Given the description of an element on the screen output the (x, y) to click on. 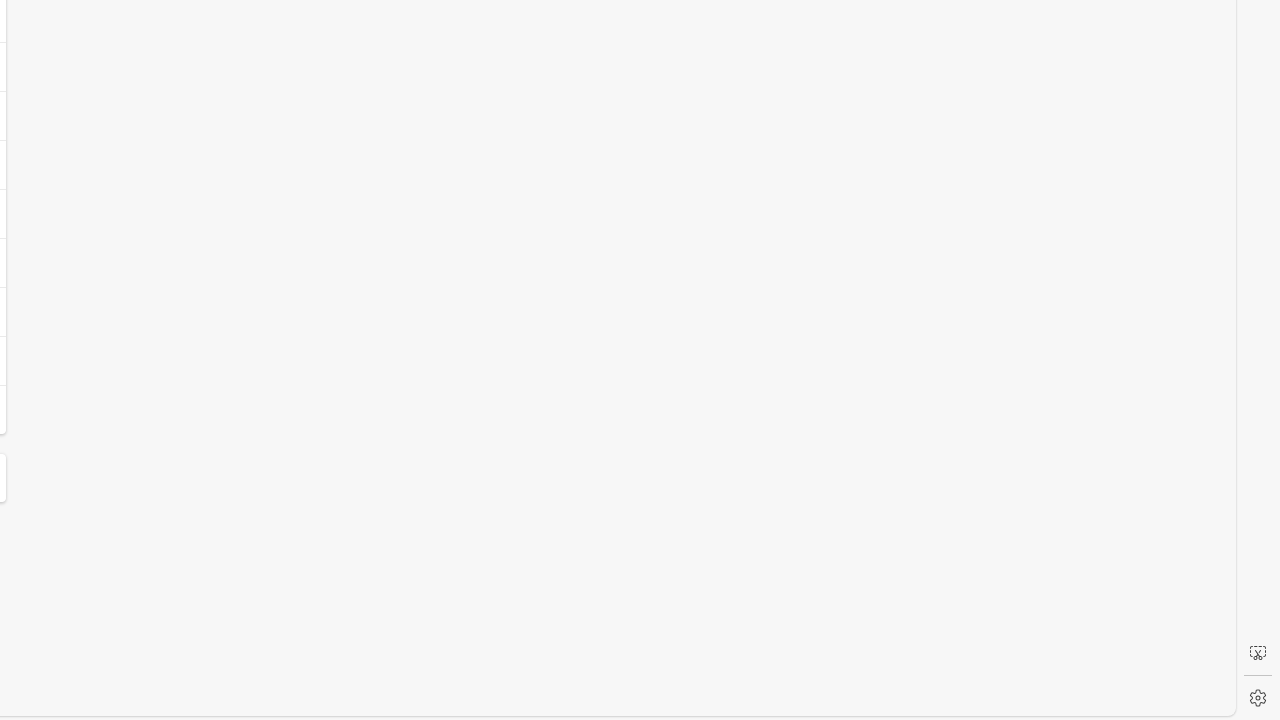
Settings Element type: push-button (1258, 698)
Screenshot Element type: push-button (1258, 653)
